Given the description of an element on the screen output the (x, y) to click on. 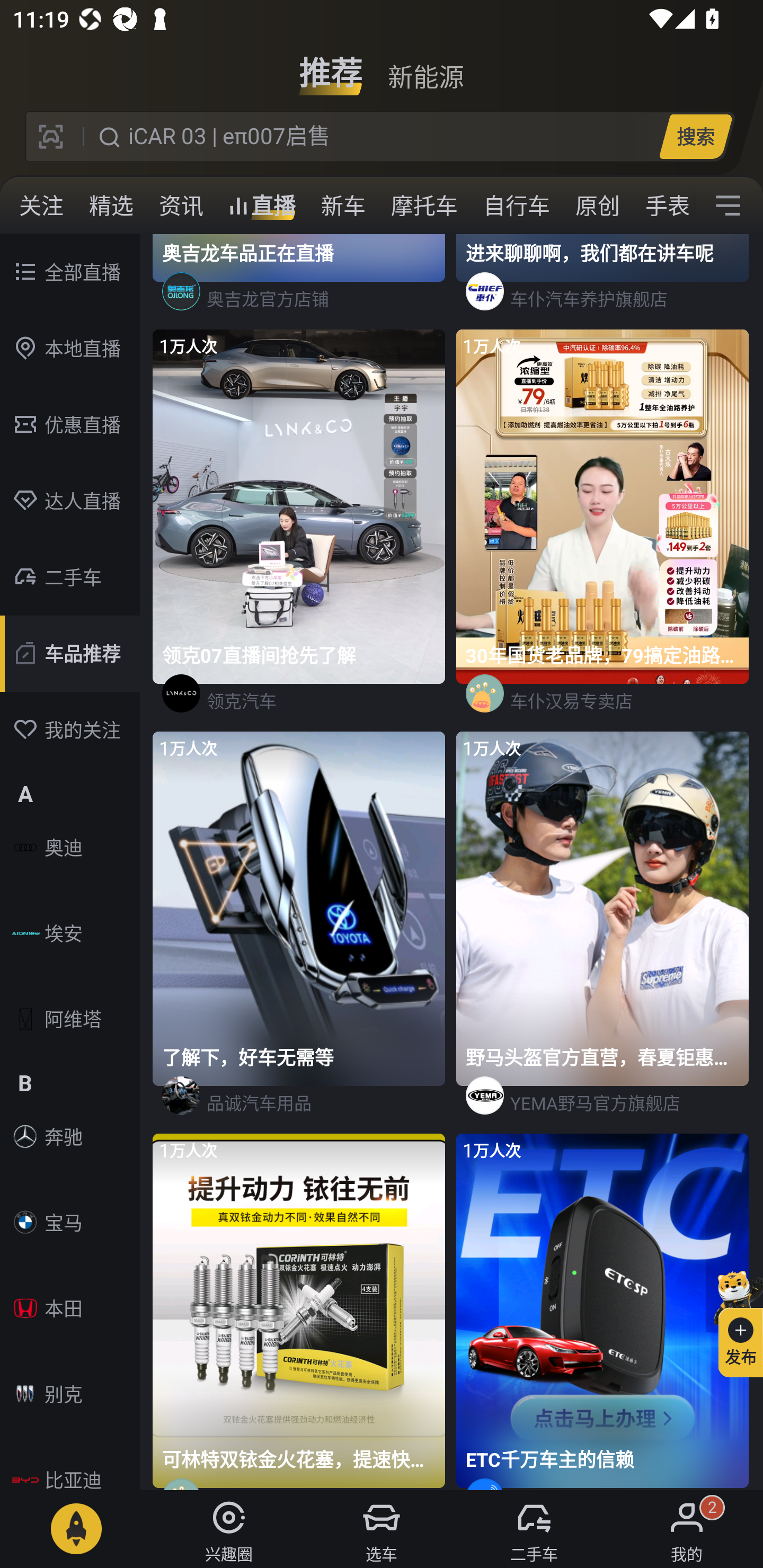
推荐 (330, 65)
新能源 (425, 65)
搜索 (695, 136)
关注 (41, 205)
精选 (111, 205)
资讯 (180, 205)
直播 (261, 205)
新车 (343, 205)
摩托车 (424, 205)
自行车 (516, 205)
原创 (597, 205)
手表 (663, 205)
 (727, 205)
全部直播 (69, 271)
奥吉龙车品正在直播 奥吉龙官方店铺 (299, 281)
进来聊聊啊，我们都在讲车呢 车仆汽车养护旗舰店 (603, 281)
本地直播 (69, 348)
1 万人次 领克07直播间抢先了解 领克汽车 (299, 530)
1 万人次 30年国货老品牌，79搞定油路积碳！ 车仆汉易专卖店 (603, 530)
优惠直播 (69, 424)
达人直播 (69, 500)
二手车 (69, 577)
车品推荐 (69, 653)
我的关注 (69, 729)
1 万人次 了解下，好车无需等 品诚汽车用品 (299, 932)
1 万人次 野马头盔官方直营，春夏钜惠来袭! YEMA野马官方旗舰店 (603, 932)
奥迪 (69, 847)
埃安 (69, 933)
阿维塔 (69, 1018)
奔驰 (69, 1136)
1 万人次 可林特双铱金火花塞，提速快，省燃油，质量保证，专车专用 (299, 1311)
1 万人次 ETC千万车主的信赖 (603, 1311)
宝马 (69, 1221)
发布 (732, 1321)
本田 (69, 1308)
别克 (69, 1394)
比亚迪 (69, 1465)
 兴趣圈 (228, 1528)
 选车 (381, 1528)
 二手车 (533, 1528)
 我的 (686, 1528)
